Given the description of an element on the screen output the (x, y) to click on. 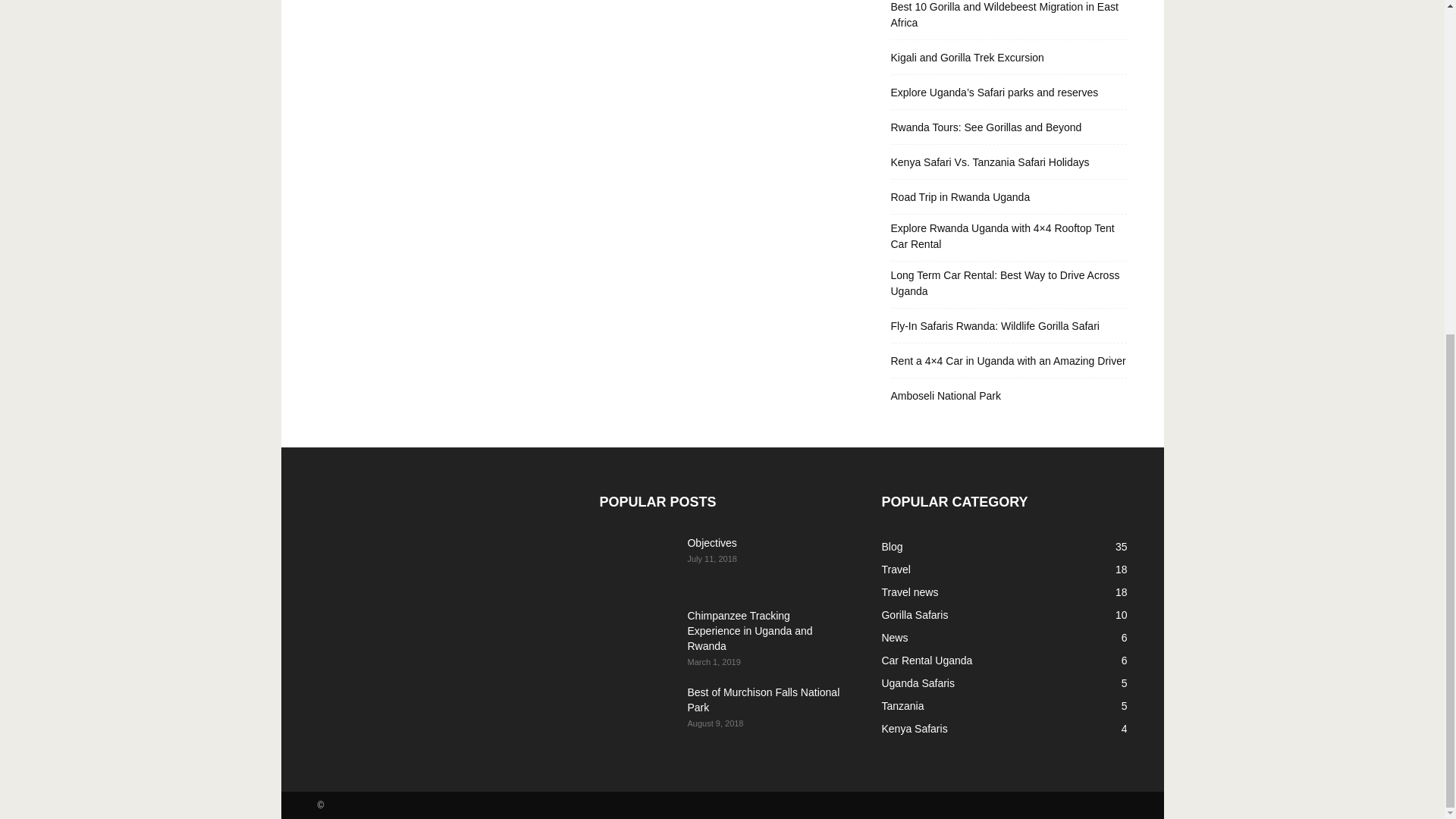
Objectives (711, 542)
Best of Murchison Falls National Park (636, 710)
Chimpanzee Tracking Experience in Uganda and Rwanda (749, 630)
Best of Murchison Falls National Park (763, 699)
Chimpanzee Tracking Experience in Uganda and Rwanda (636, 634)
Objectives (636, 561)
